Given the description of an element on the screen output the (x, y) to click on. 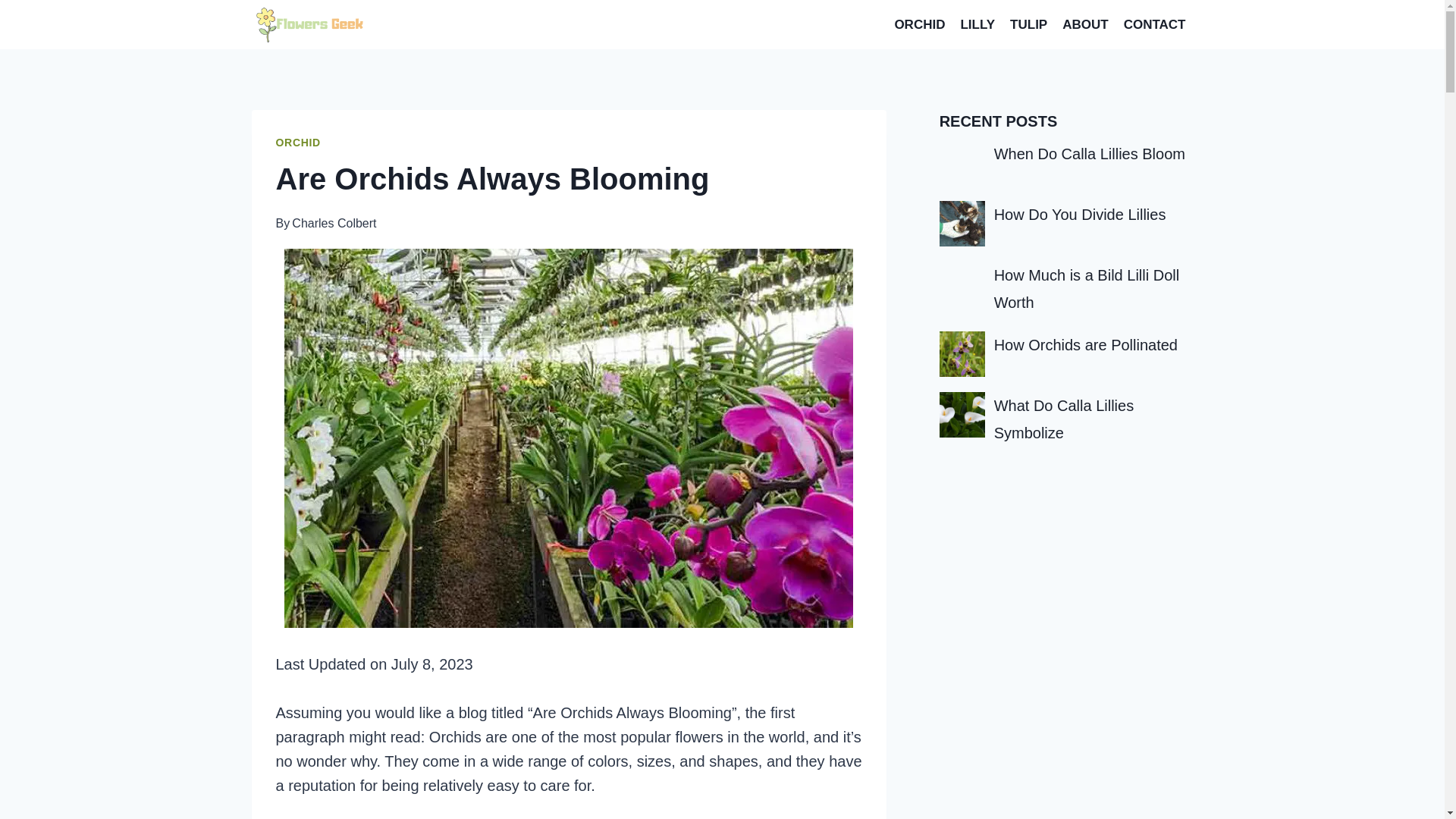
LILLY (977, 24)
TULIP (1028, 24)
b6c78c2c0e8f4f23b38ca14cc9bf28c8 (962, 162)
How Do You Divide Lillies (1080, 214)
ORCHID (298, 142)
Charles Colbert (333, 223)
ORCHID (919, 24)
How Much is a Bild Lilli Doll Worth (1086, 288)
When Do Calla Lillies Bloom (1089, 153)
ABOUT (1084, 24)
CONTACT (1154, 24)
